Given the description of an element on the screen output the (x, y) to click on. 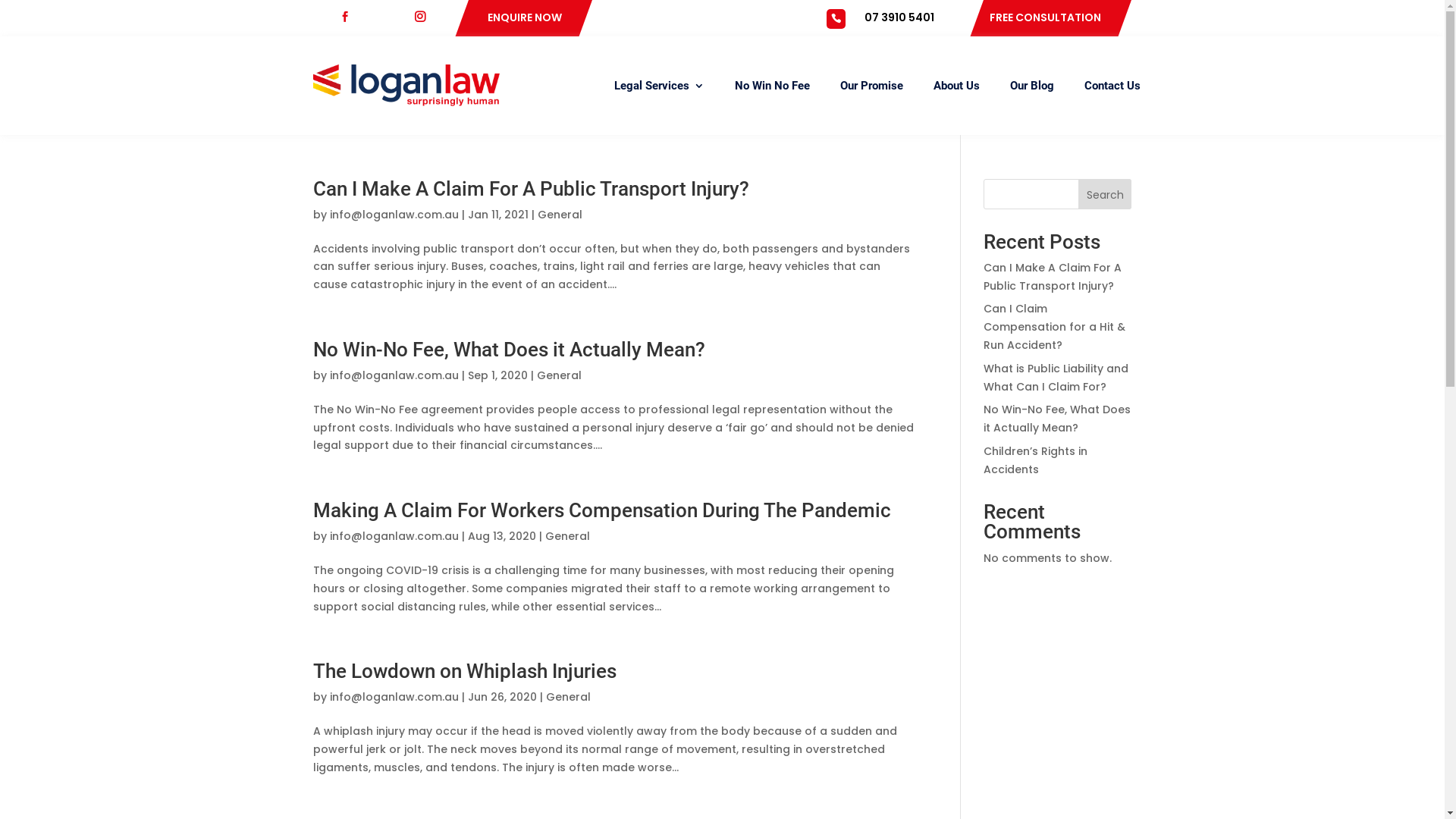
info@loganlaw.com.au Element type: text (393, 374)
General Element type: text (558, 214)
Search Element type: text (1105, 193)
Can I Make A Claim For A Public Transport Injury? Element type: text (530, 188)
ig Element type: text (424, 17)
fb Element type: text (350, 17)
Contact Us Element type: text (1112, 85)
General Element type: text (558, 374)
No Win No Fee Element type: text (771, 85)
No Win-No Fee, What Does it Actually Mean? Element type: text (508, 349)
Can I Claim Compensation for a Hit & Run Accident? Element type: text (1054, 326)
Our Blog Element type: text (1032, 85)
Legal Services Element type: text (659, 85)
FREE CONSULTATION Element type: text (1045, 17)
About Us Element type: text (955, 85)
Can I Make A Claim For A Public Transport Injury? Element type: text (1052, 276)
info@loganlaw.com.au Element type: text (393, 214)
The Lowdown on Whiplash Injuries Element type: text (463, 670)
No Win-No Fee, What Does it Actually Mean? Element type: text (1056, 418)
General Element type: text (568, 696)
info@loganlaw.com.au Element type: text (393, 535)
Our Promise Element type: text (871, 85)
ENQUIRE NOW Element type: text (523, 17)
Making A Claim For Workers Compensation During The Pandemic Element type: text (601, 509)
07 3910 5401 Element type: text (899, 17)
info@loganlaw.com.au Element type: text (393, 696)
What is Public Liability and What Can I Claim For? Element type: text (1055, 377)
General Element type: text (566, 535)
